Given the description of an element on the screen output the (x, y) to click on. 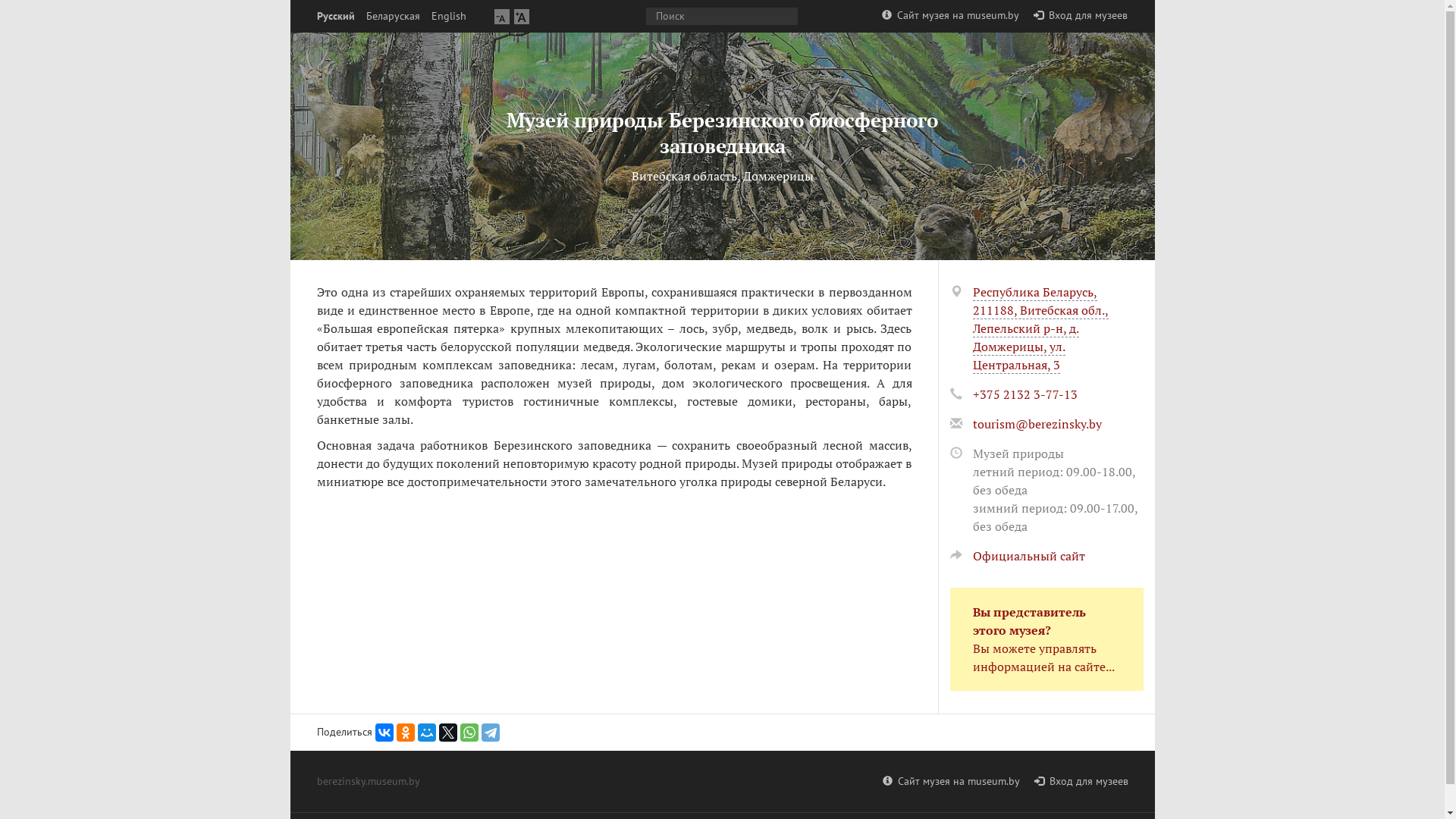
WhatsApp Element type: hover (468, 732)
A Element type: text (501, 16)
tourism@berezinsky.by Element type: text (1036, 423)
Telegram Element type: hover (489, 732)
A Element type: text (521, 16)
Twitter Element type: hover (447, 732)
+375 2132 3-77-13 Element type: text (1024, 394)
English Element type: text (447, 16)
